Given the description of an element on the screen output the (x, y) to click on. 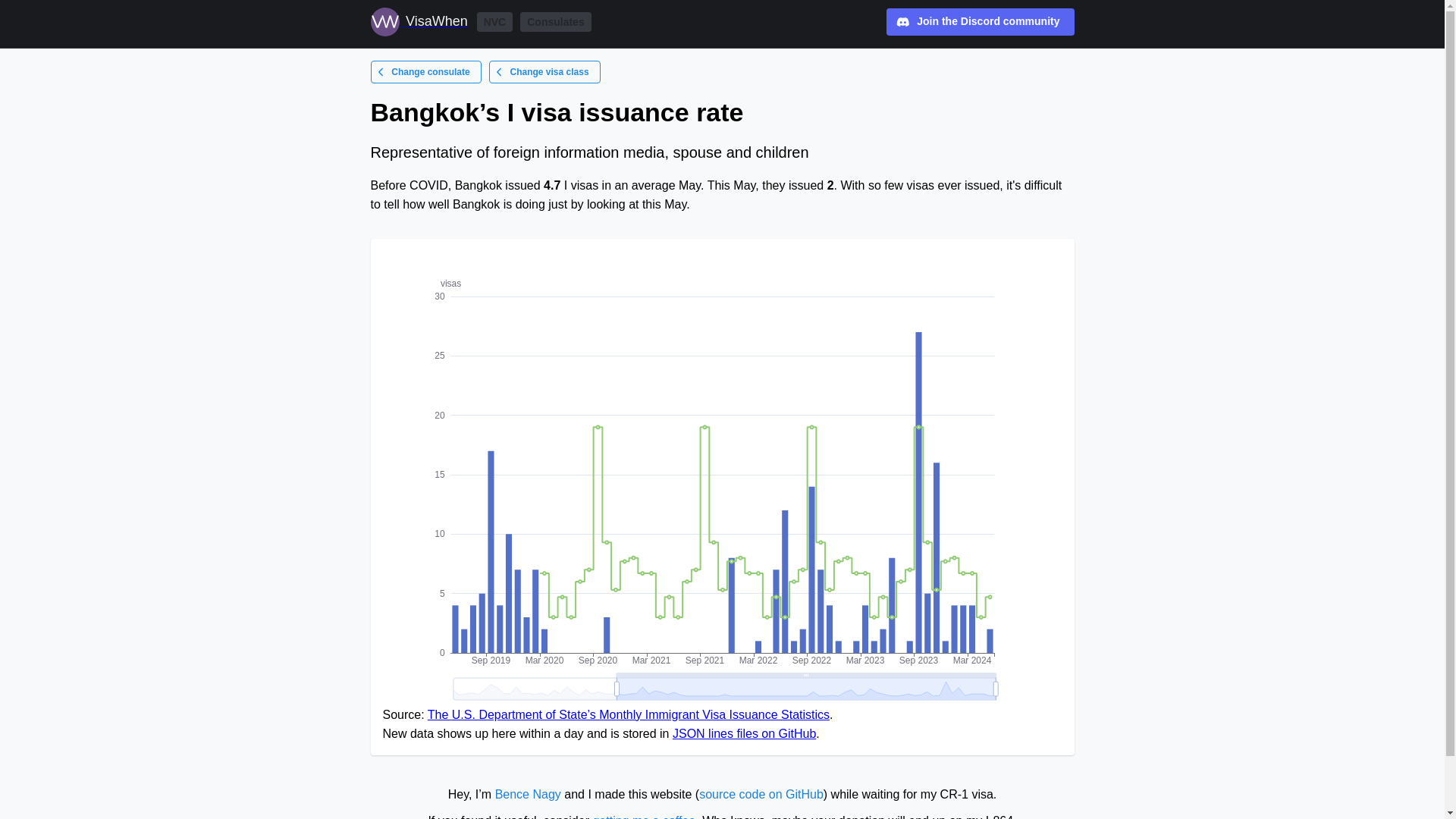
JSON lines files on GitHub (743, 733)
Bence Nagy (527, 793)
 VisaWhen (418, 21)
NVC (495, 21)
Change visa class (544, 71)
Consulates (555, 21)
Join the Discord community (980, 22)
Change consulate (424, 71)
source code on GitHub (761, 793)
getting me a coffee (643, 816)
